Given the description of an element on the screen output the (x, y) to click on. 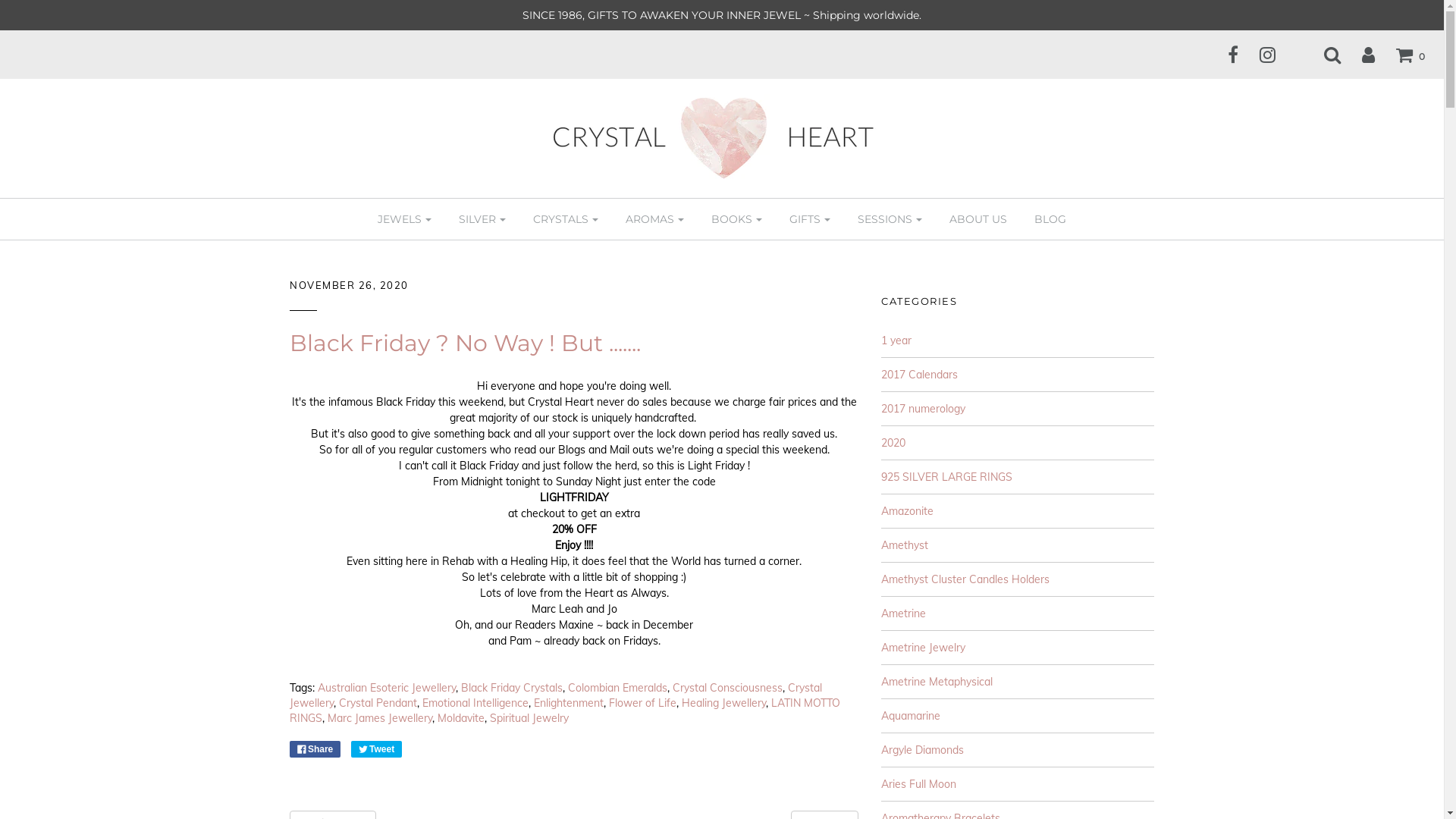
AROMAS Element type: text (654, 219)
Log in Element type: hover (1358, 54)
Search Element type: hover (1322, 54)
Marc James Jewellery Element type: text (379, 717)
Ametrine Metaphysical Element type: text (936, 681)
Aquamarine Element type: text (910, 715)
1 year Element type: text (896, 340)
Amethyst Element type: text (904, 545)
Black Friday Crystals Element type: text (511, 687)
2017 Calendars Element type: text (919, 374)
LATIN MOTTO RINGS Element type: text (564, 710)
Emotional Intelligence Element type: text (475, 702)
BLOG Element type: text (1049, 219)
2020 Element type: text (893, 442)
SILVER Element type: text (482, 219)
925 SILVER LARGE RINGS Element type: text (946, 476)
Share Element type: text (314, 748)
BOOKS Element type: text (736, 219)
Ametrine Jewelry Element type: text (923, 647)
Australian Esoteric Jewellery Element type: text (386, 687)
ABOUT US Element type: text (978, 219)
Colombian Emeralds Element type: text (617, 687)
Tweet Element type: text (376, 748)
SESSIONS Element type: text (889, 219)
Amazonite Element type: text (907, 510)
JEWELS Element type: text (404, 219)
Crystal Jewellery Element type: text (555, 694)
Enlightenment Element type: text (568, 702)
Argyle Diamonds Element type: text (922, 749)
Healing Jewellery Element type: text (723, 702)
Moldavite Element type: text (460, 717)
Black Friday ? No Way ! But ....... Element type: text (464, 343)
Flower of Life Element type: text (642, 702)
Spiritual Jewelry Element type: text (528, 717)
Crystal Pendant Element type: text (377, 702)
GIFTS Element type: text (809, 219)
Crystal Consciousness Element type: text (727, 687)
2017 numerology Element type: text (923, 408)
Ametrine Element type: text (903, 613)
CRYSTALS Element type: text (565, 219)
Amethyst Cluster Candles Holders Element type: text (965, 579)
Aries Full Moon Element type: text (918, 783)
0 Element type: text (1400, 54)
